Given the description of an element on the screen output the (x, y) to click on. 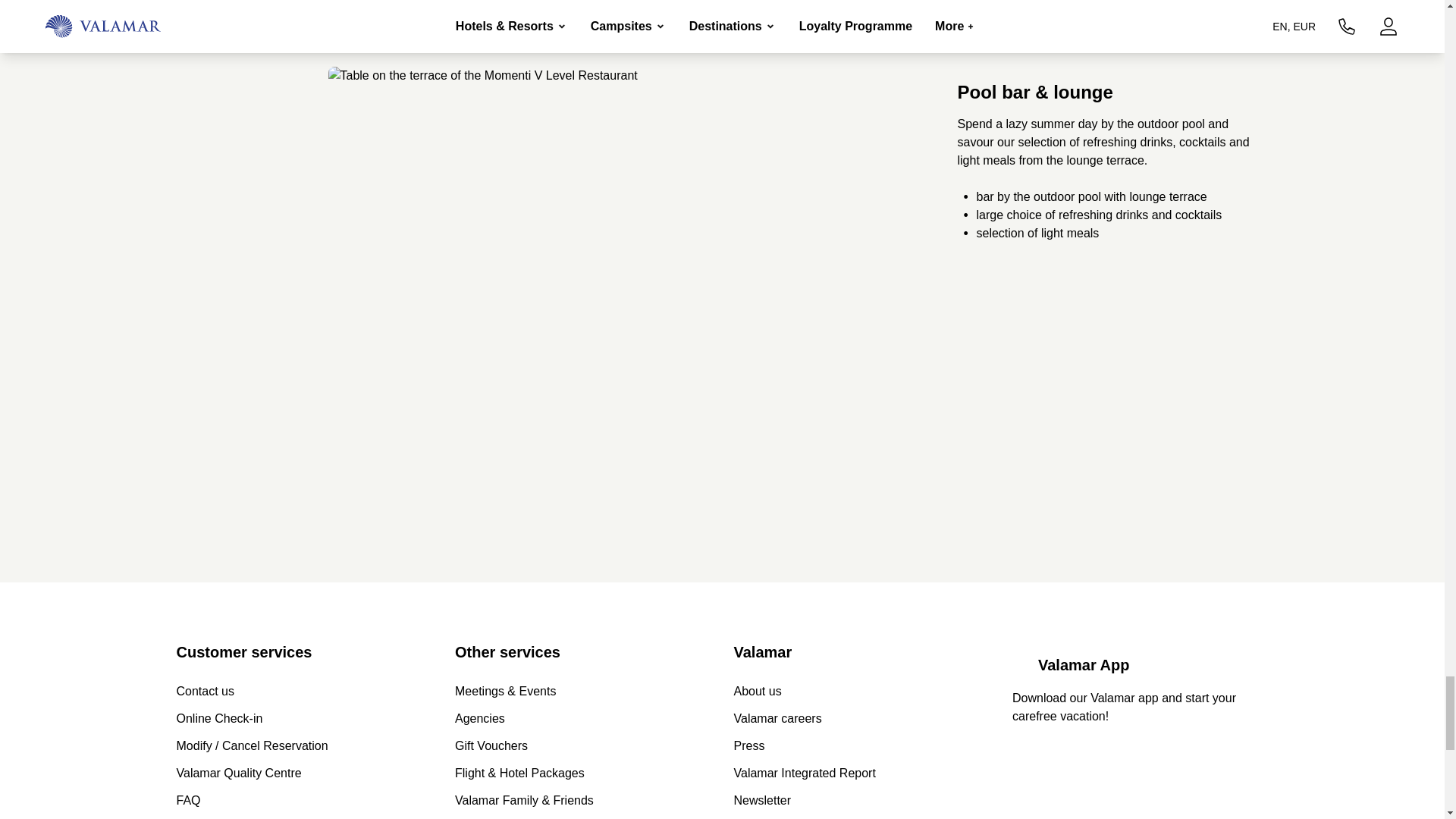
FAQ (188, 800)
Customer services (304, 651)
Agencies (479, 718)
Valamar Quality Centre (238, 773)
Online Check-in (219, 718)
Other services (582, 651)
Contact us (204, 691)
